Given the description of an element on the screen output the (x, y) to click on. 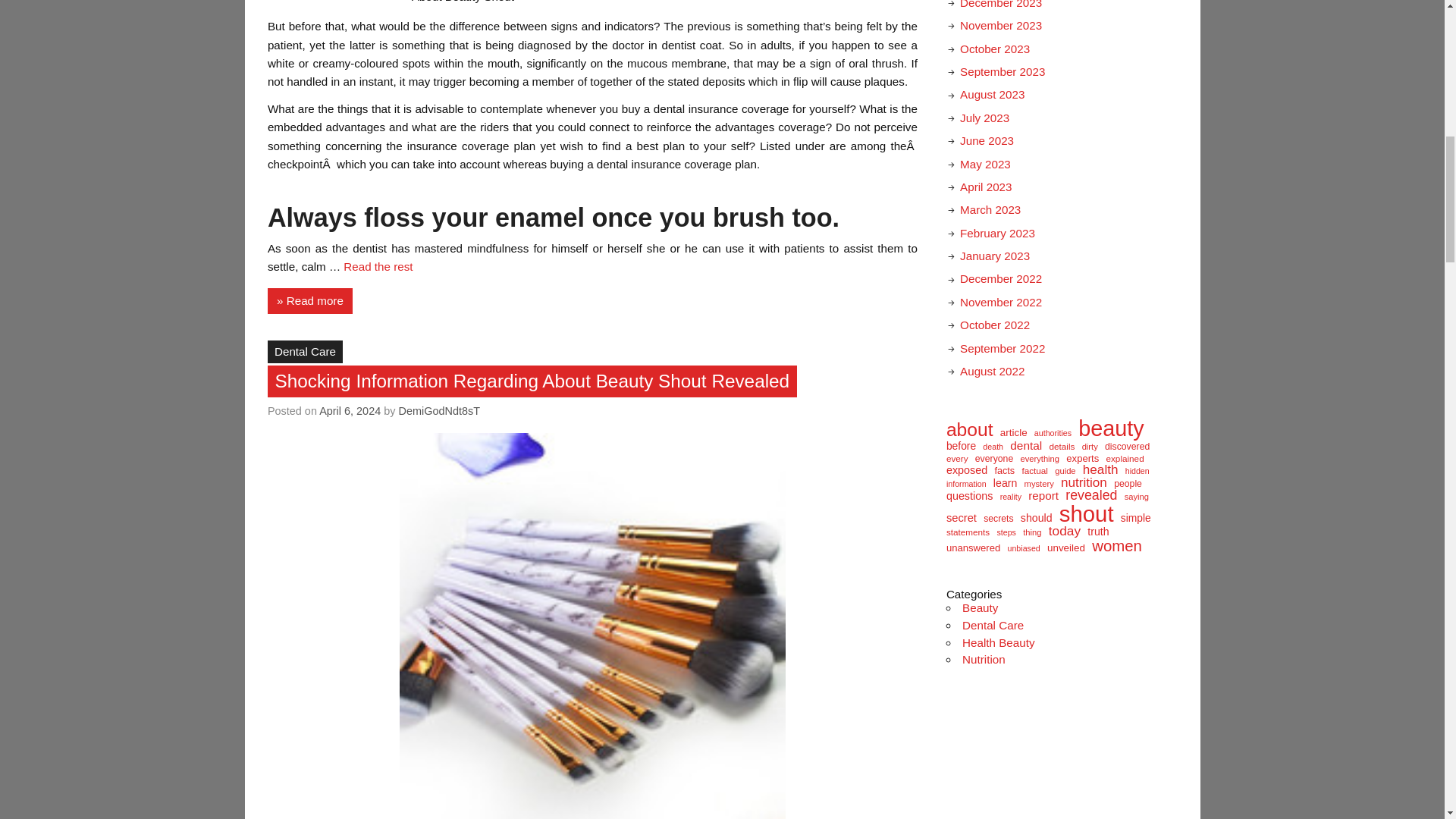
Dental Care (304, 351)
Shocking Information Regarding About Beauty Shout Revealed (532, 381)
View all posts by DemiGodNdt8sT (438, 410)
DemiGodNdt8sT (438, 410)
4:35 am (349, 410)
April 6, 2024 (349, 410)
Read the rest (377, 266)
